Given the description of an element on the screen output the (x, y) to click on. 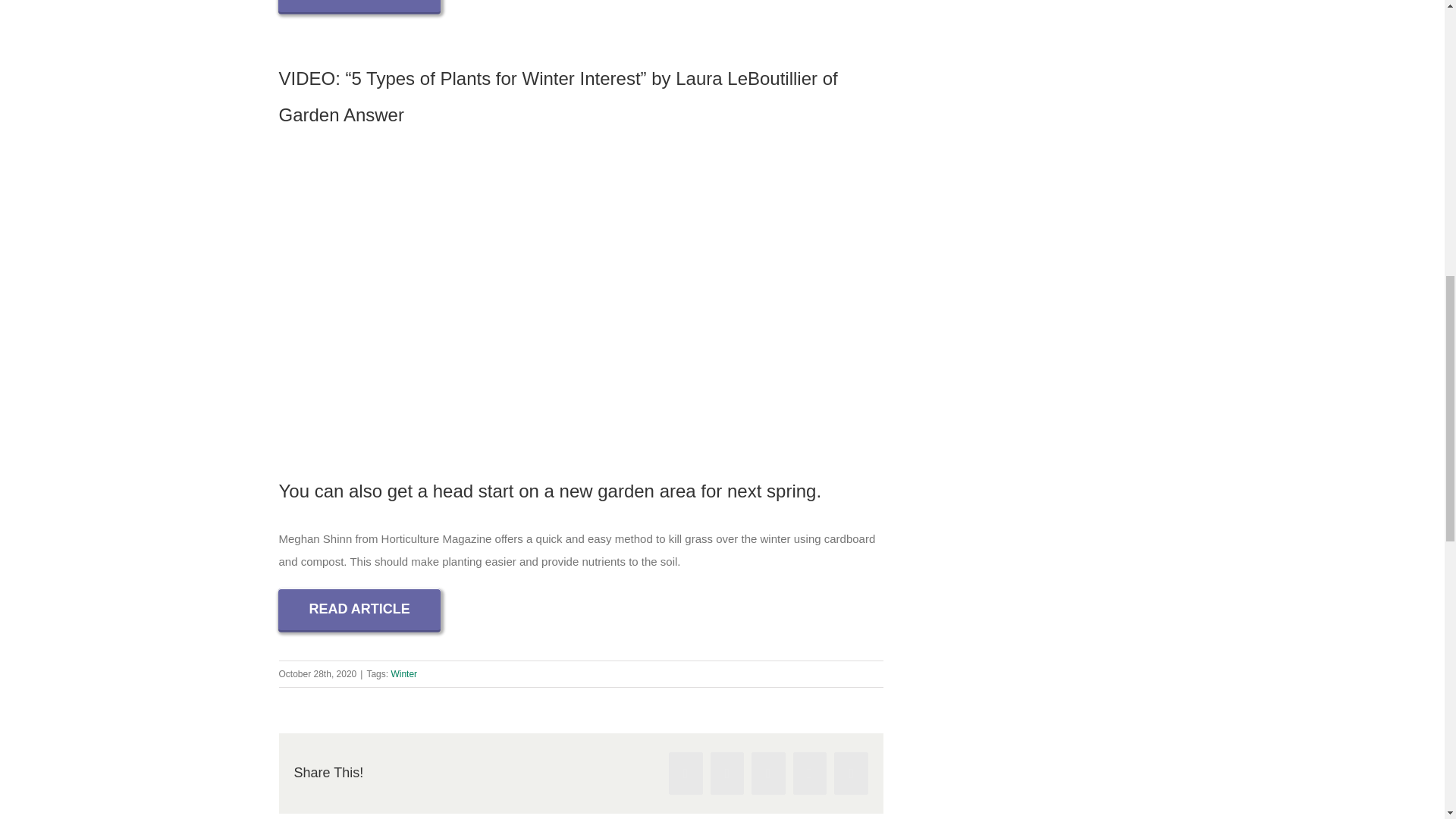
Winter (403, 674)
READ ARTICLE (358, 608)
YouTube video player 1 (580, 288)
READ ARTICLE (358, 6)
